Given the description of an element on the screen output the (x, y) to click on. 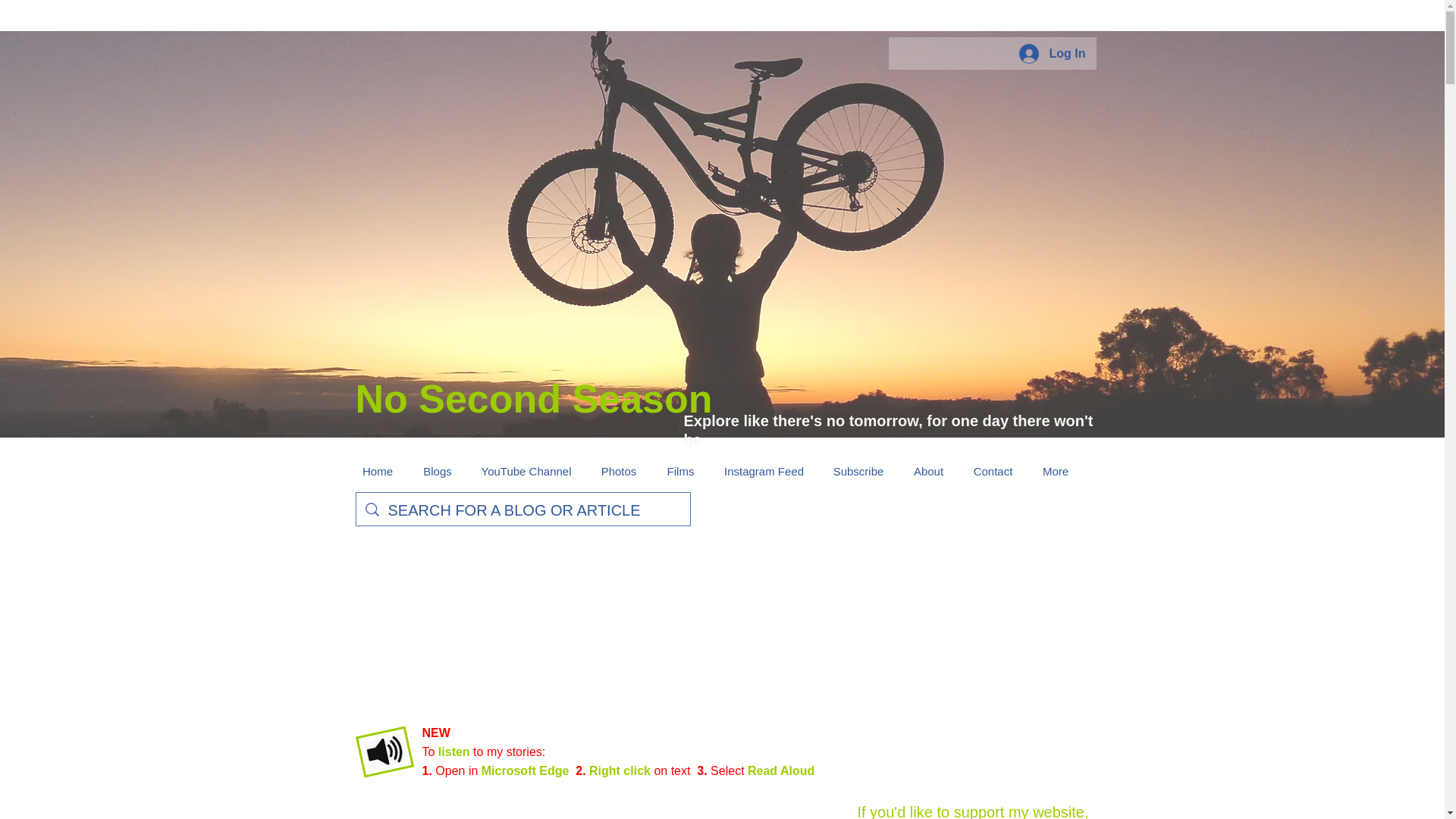
No Second Season (533, 398)
Log In (1052, 53)
